Given the description of an element on the screen output the (x, y) to click on. 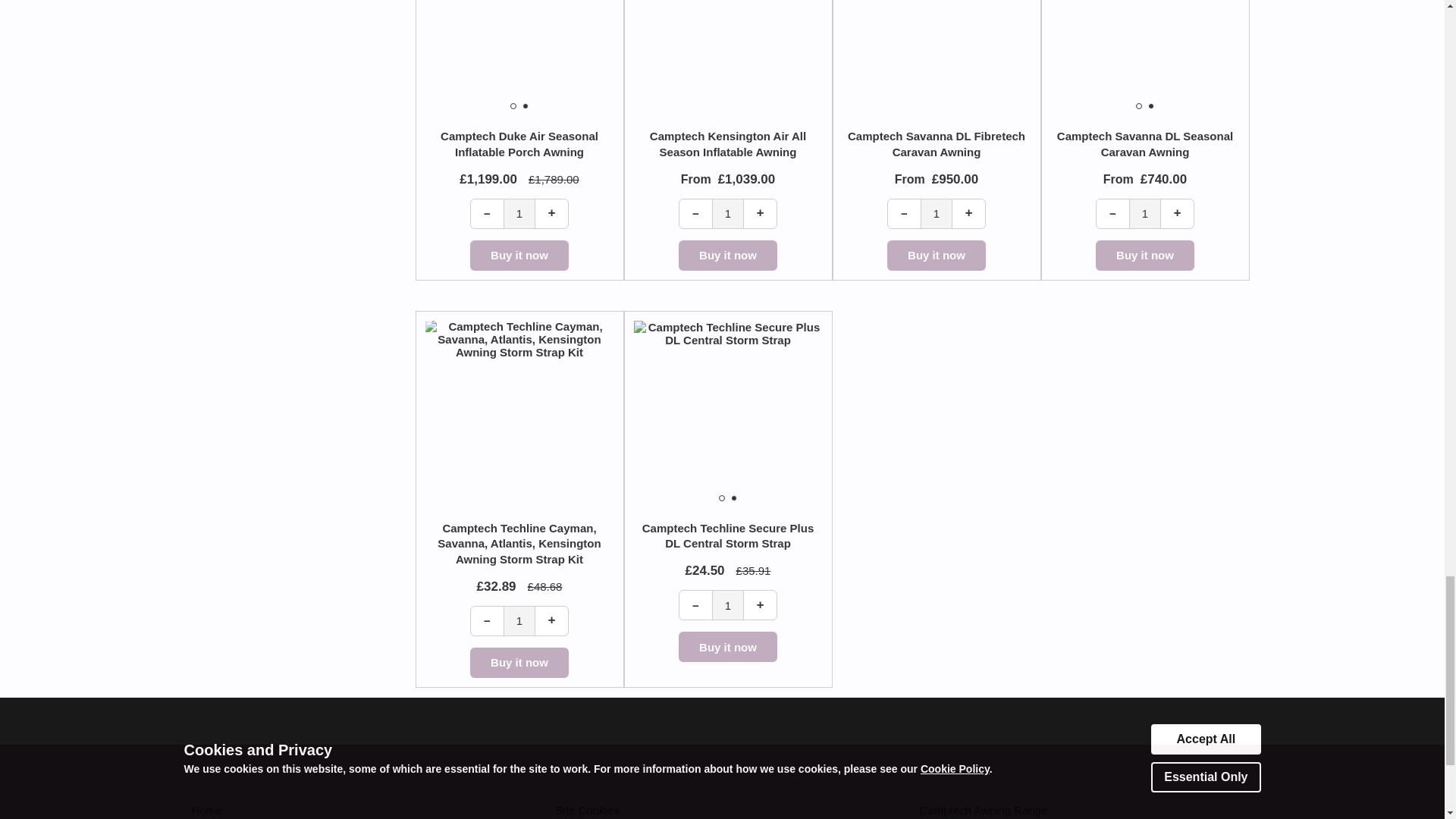
1 (519, 213)
1 (936, 213)
1 (727, 604)
1 (519, 620)
1 (1145, 213)
1 (727, 213)
